Given the description of an element on the screen output the (x, y) to click on. 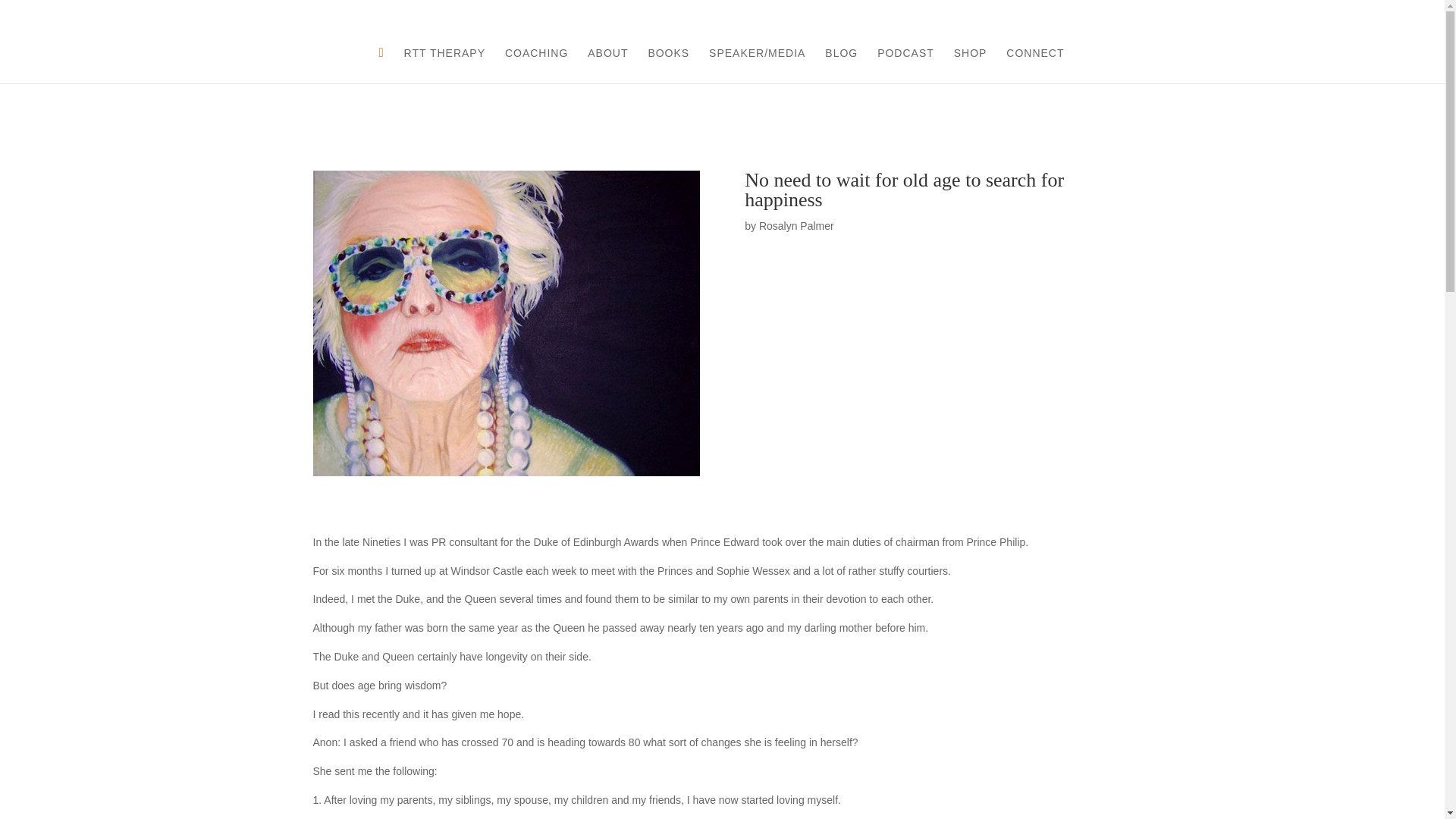
0 Items (1399, 11)
SHOP (970, 65)
BLOG (841, 65)
PODCAST (905, 65)
ABOUT (607, 65)
RTT THERAPY (444, 65)
Rosalyn Palmer (796, 225)
COACHING (536, 65)
1617699364156.jpeg (505, 322)
Basket (1350, 14)
CONNECT (1035, 65)
BOOKS (667, 65)
Posts by Rosalyn Palmer (796, 225)
